Given the description of an element on the screen output the (x, y) to click on. 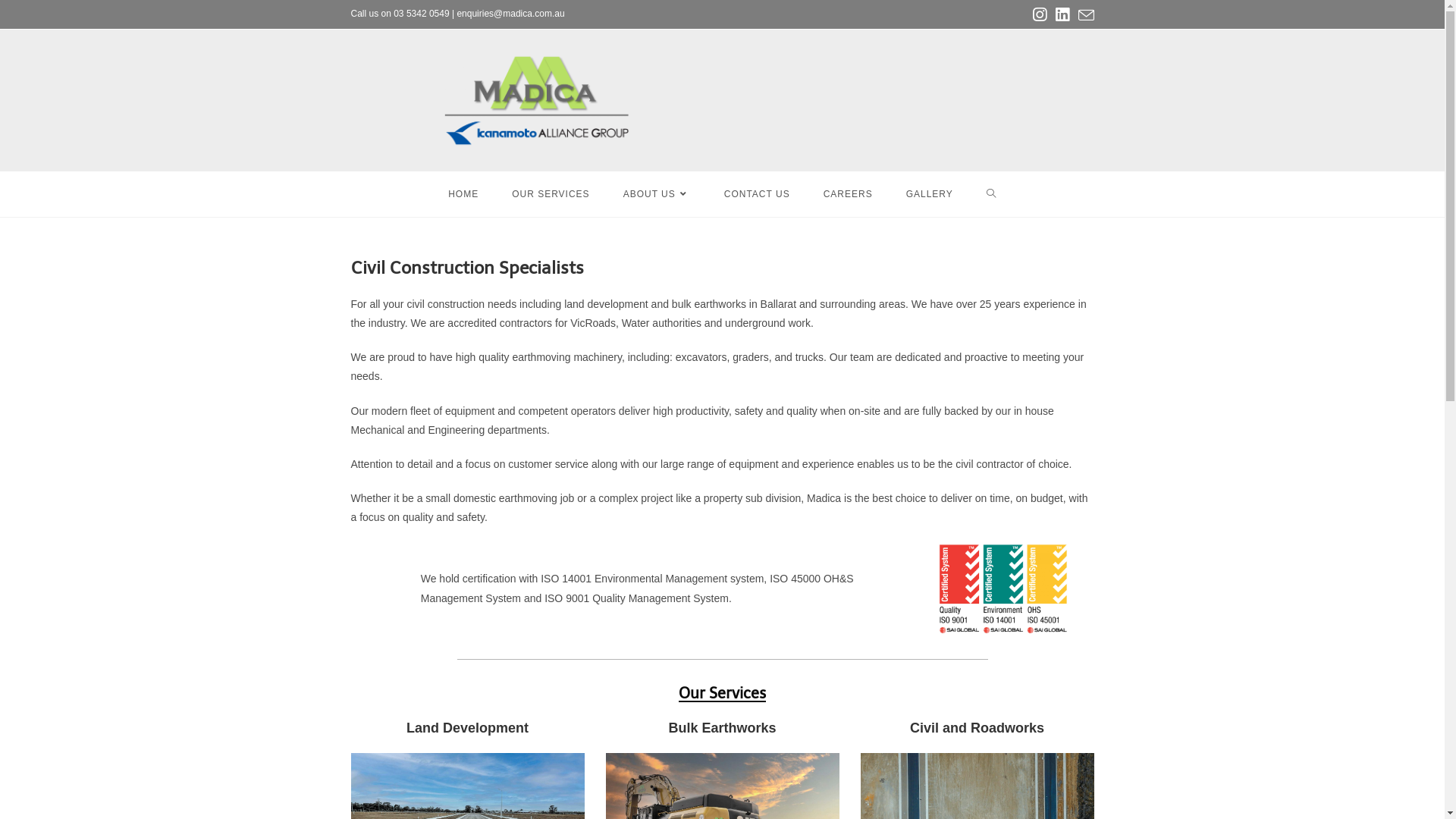
CAREERS Element type: text (847, 193)
HOME Element type: text (463, 193)
CONTACT US Element type: text (756, 193)
OUR SERVICES Element type: text (550, 193)
GALLERY Element type: text (929, 193)
ABOUT US Element type: text (656, 193)
Our Services Element type: text (721, 693)
